Given the description of an element on the screen output the (x, y) to click on. 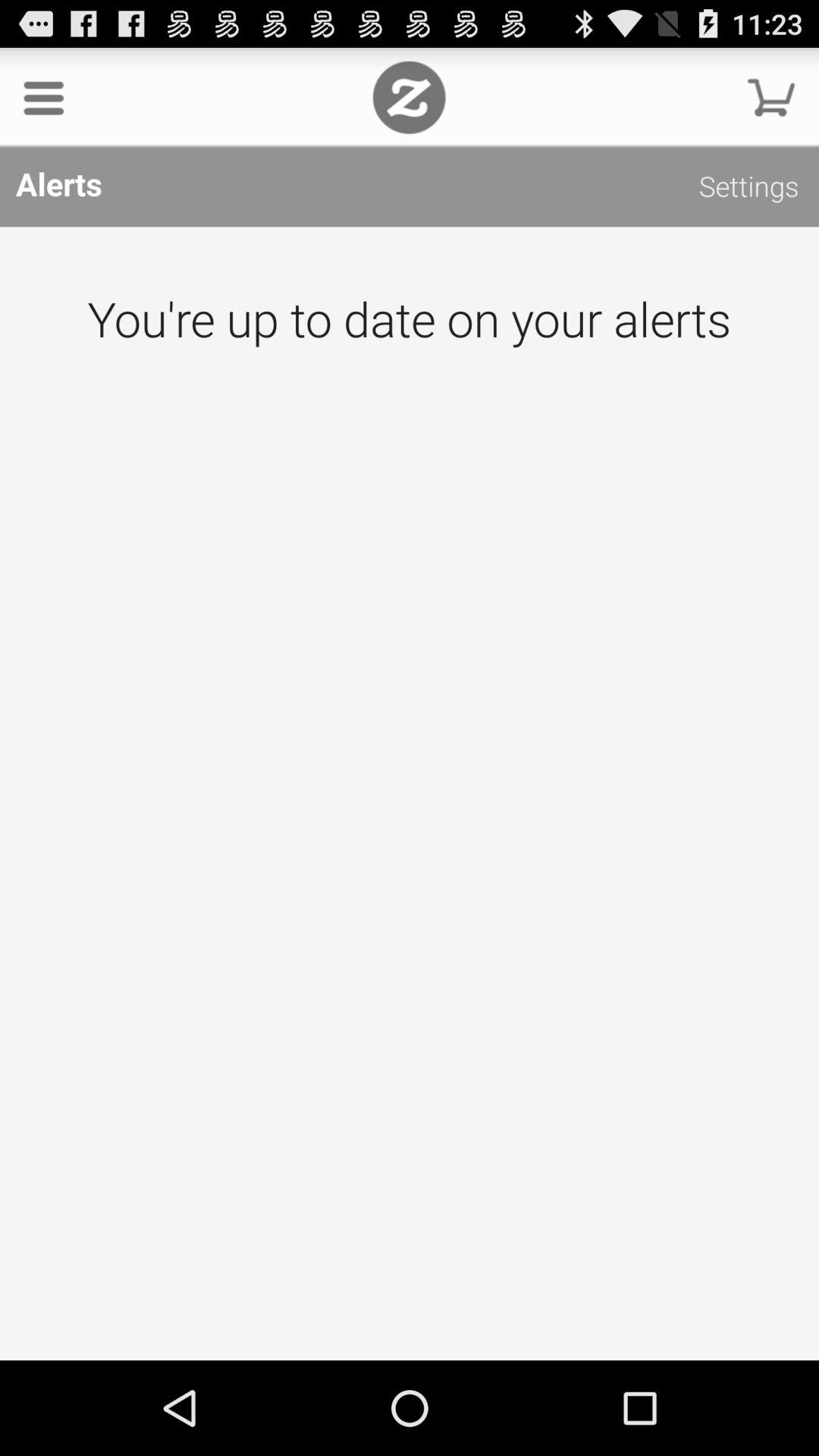
select the item above alerts (771, 97)
